Given the description of an element on the screen output the (x, y) to click on. 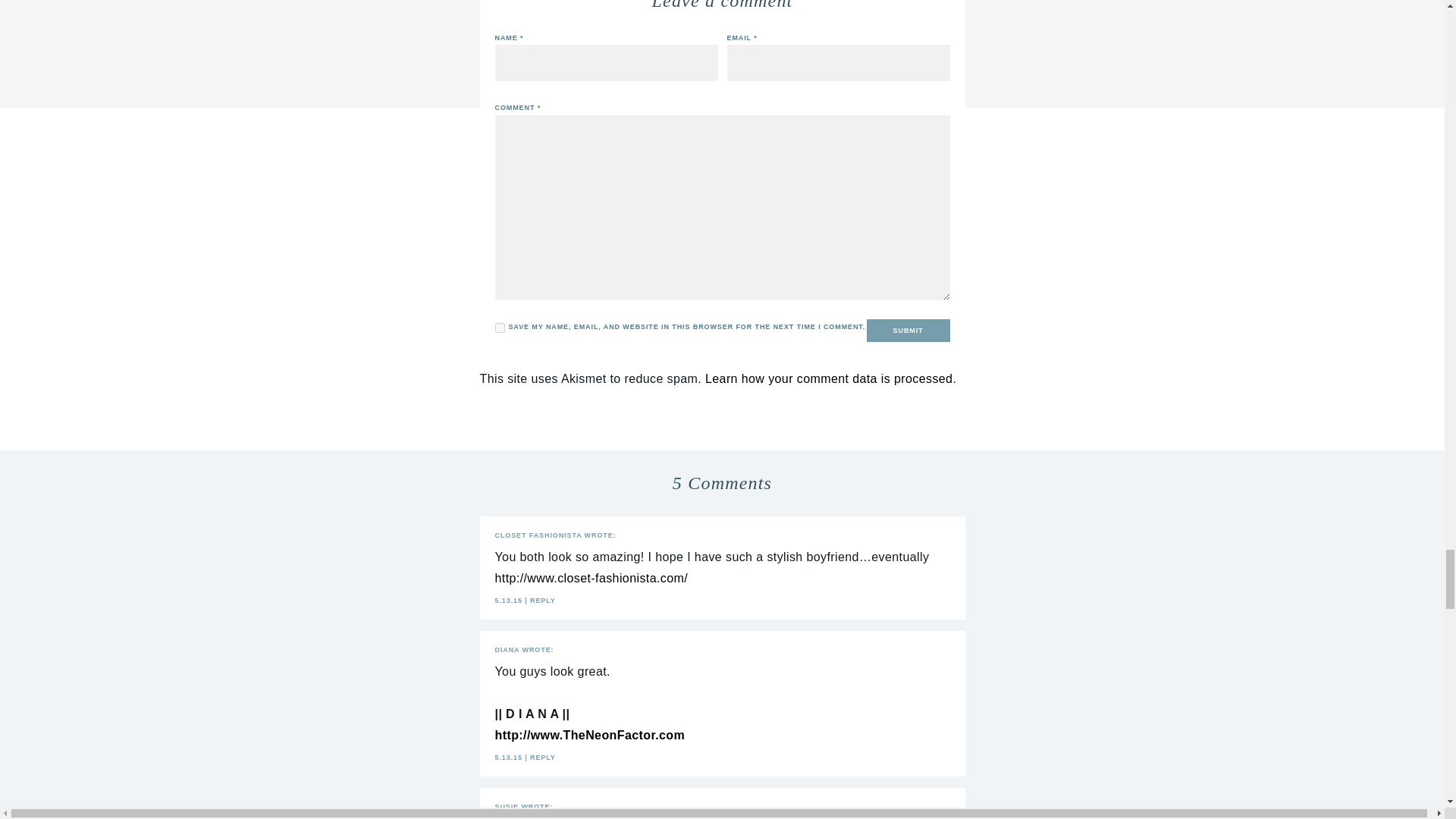
Submit (908, 330)
yes (499, 327)
